Given the description of an element on the screen output the (x, y) to click on. 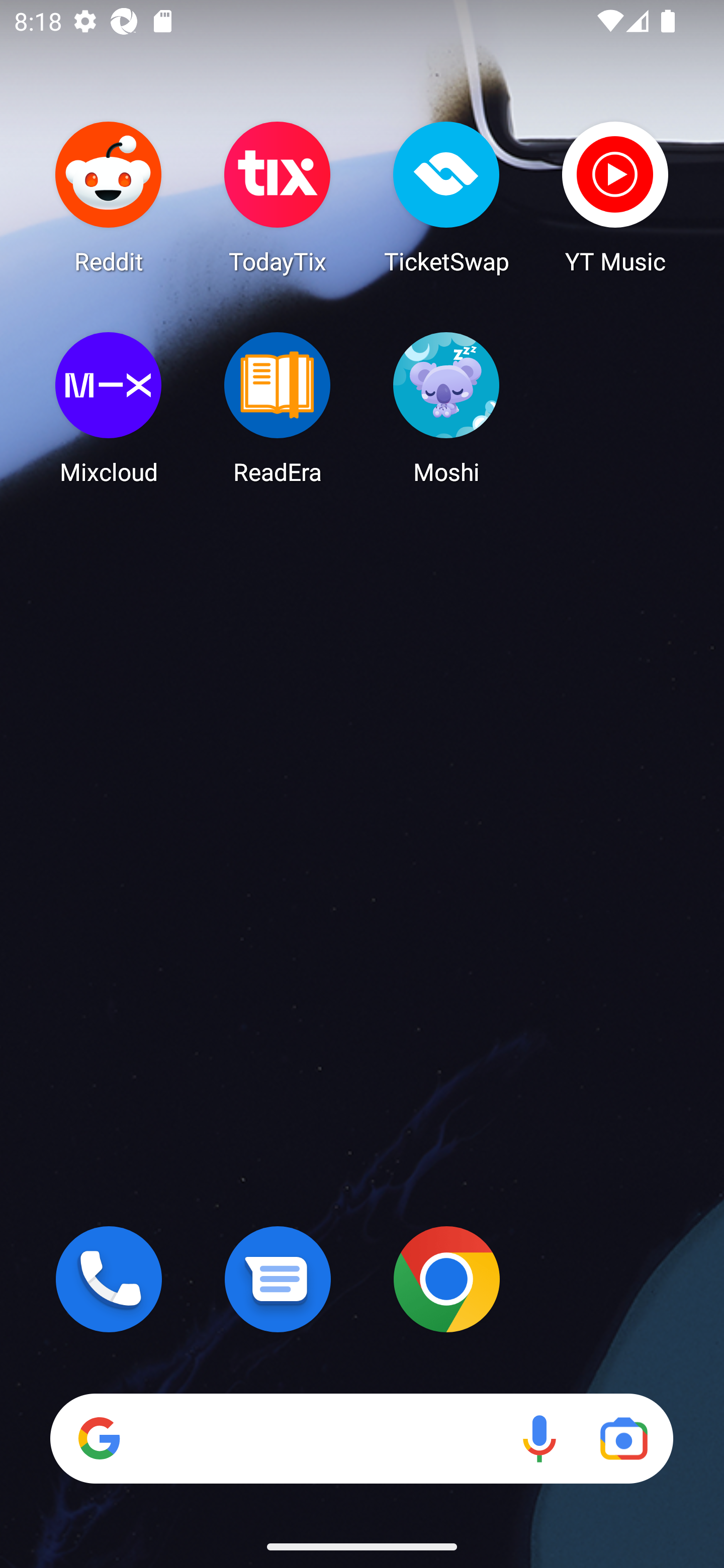
Reddit (108, 196)
TodayTix (277, 196)
TicketSwap (445, 196)
YT Music (615, 196)
Mixcloud (108, 407)
ReadEra (277, 407)
Moshi (445, 407)
Phone (108, 1279)
Messages (277, 1279)
Chrome (446, 1279)
Voice search (539, 1438)
Google Lens (623, 1438)
